Given the description of an element on the screen output the (x, y) to click on. 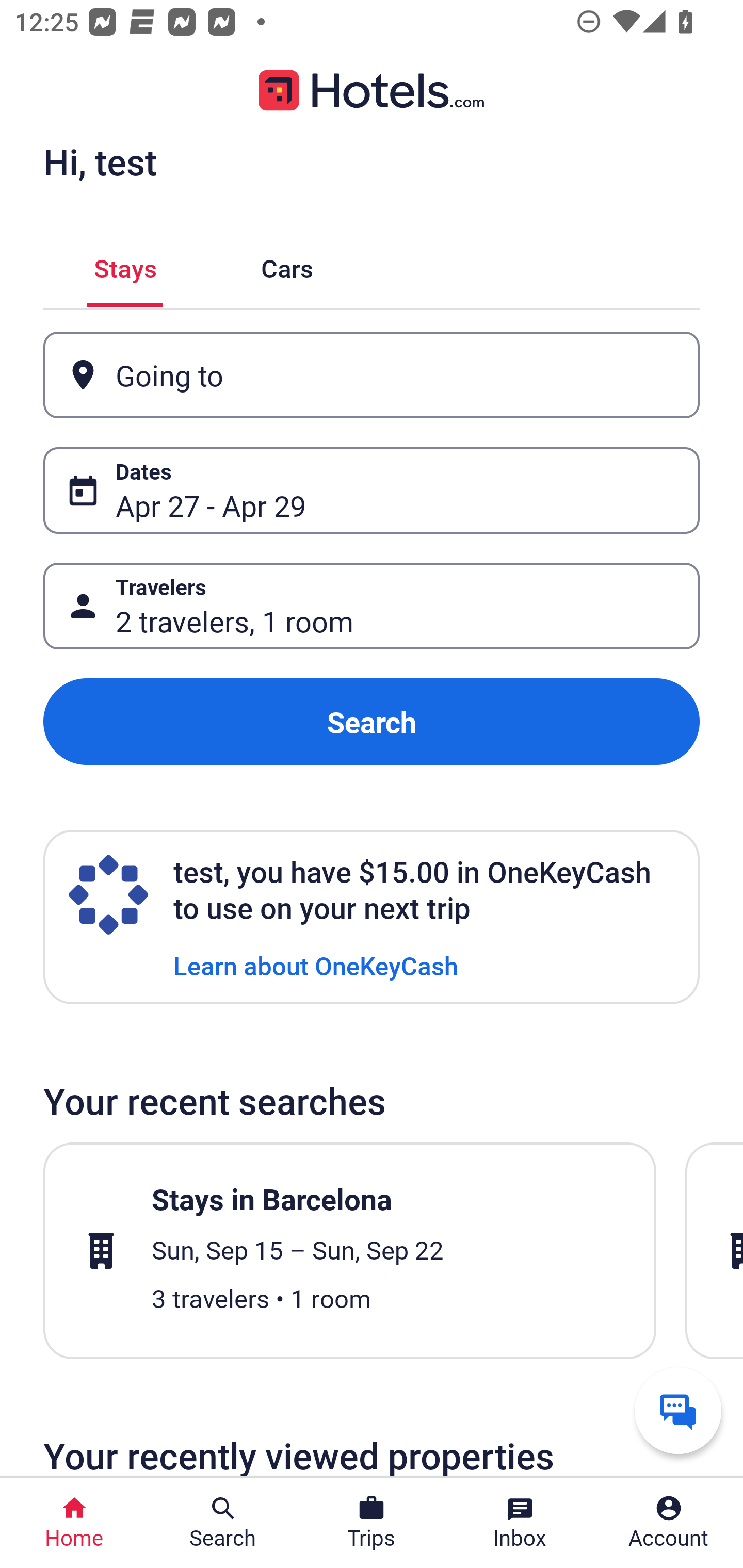
Hi, test (99, 161)
Cars (286, 265)
Going to Button (371, 375)
Dates Button Apr 27 - Apr 29 (371, 489)
Travelers Button 2 travelers, 1 room (371, 605)
Search (371, 721)
Learn about OneKeyCash Learn about OneKeyCash Link (315, 964)
Get help from a virtual agent (677, 1410)
Search Search Button (222, 1522)
Trips Trips Button (371, 1522)
Inbox Inbox Button (519, 1522)
Account Profile. Button (668, 1522)
